Given the description of an element on the screen output the (x, y) to click on. 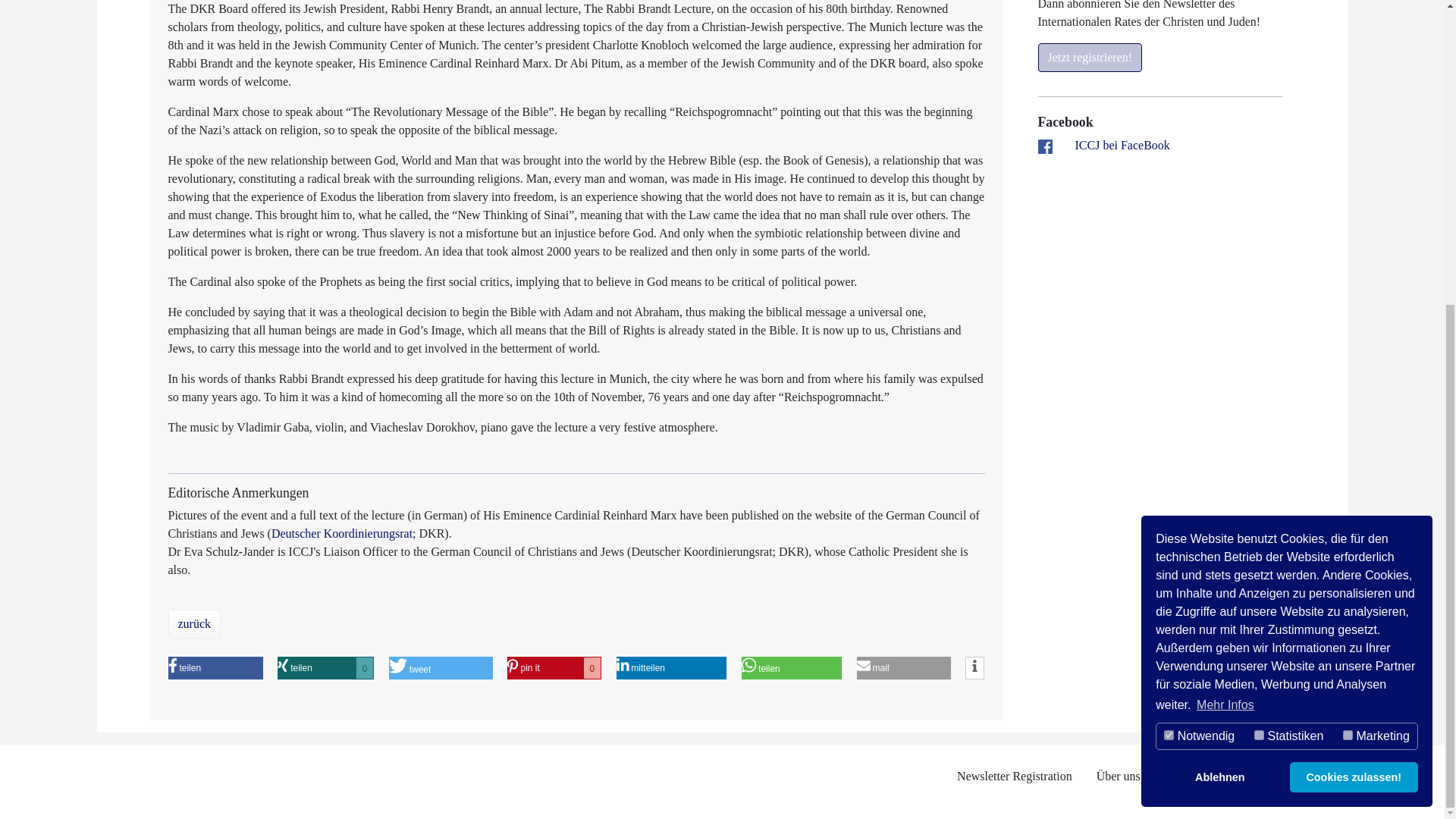
teilen (722, 667)
Bei Pinterest pinnen (546, 667)
Bei Whatsapp teilen (788, 667)
mitteilen (595, 667)
Deutscher Koordinierungsrat (199, 533)
ICCJ bei FaceBook (1122, 144)
Bei Facebook teilen (198, 667)
Bei XING teilen (312, 667)
Per E-Mail versenden (901, 667)
Open external link in new window (1122, 144)
Cookies zulassen! (1354, 298)
Ablehnen (218, 667)
Mehr Infos (1220, 298)
